Given the description of an element on the screen output the (x, y) to click on. 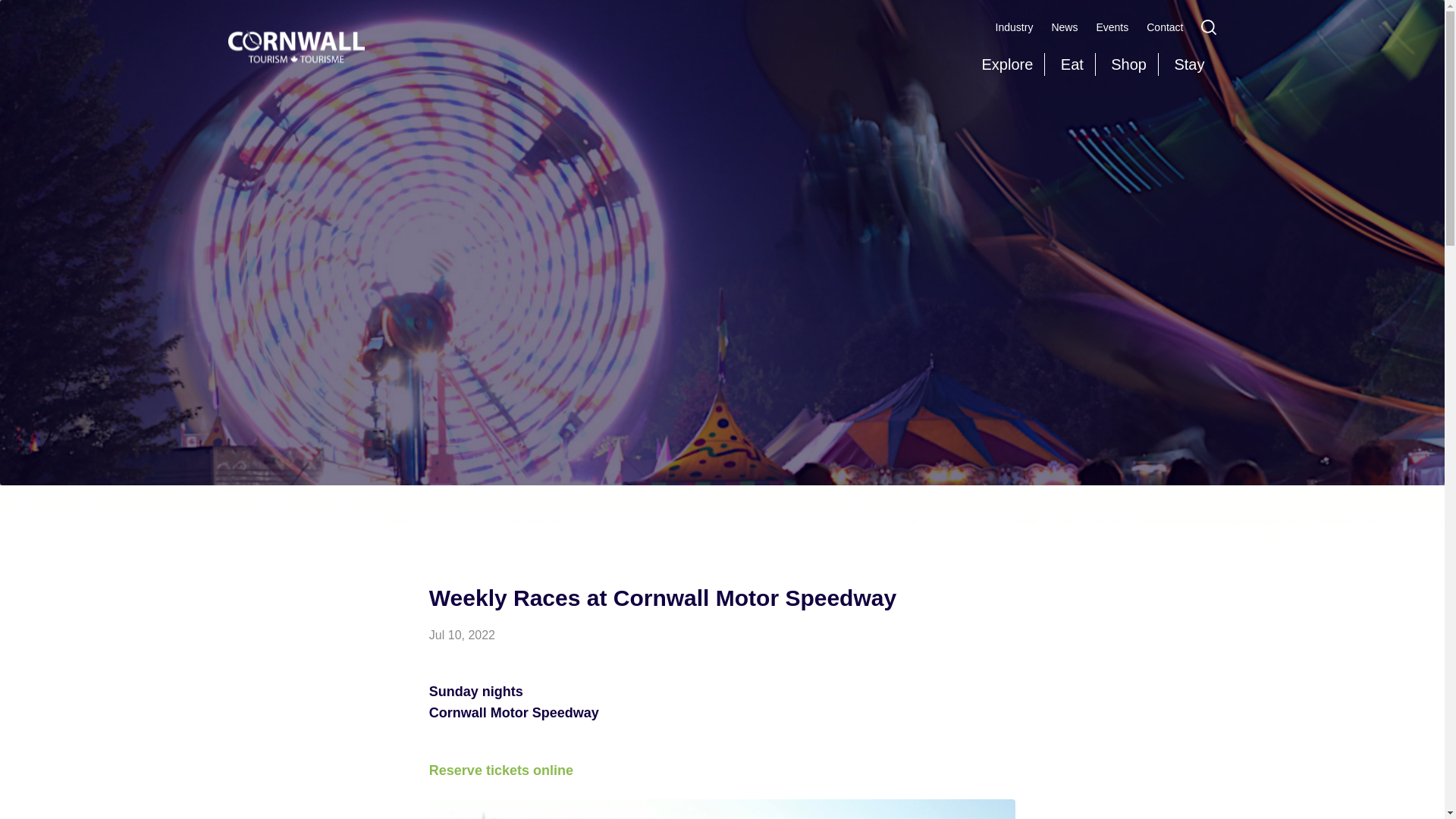
search (1208, 27)
